Given the description of an element on the screen output the (x, y) to click on. 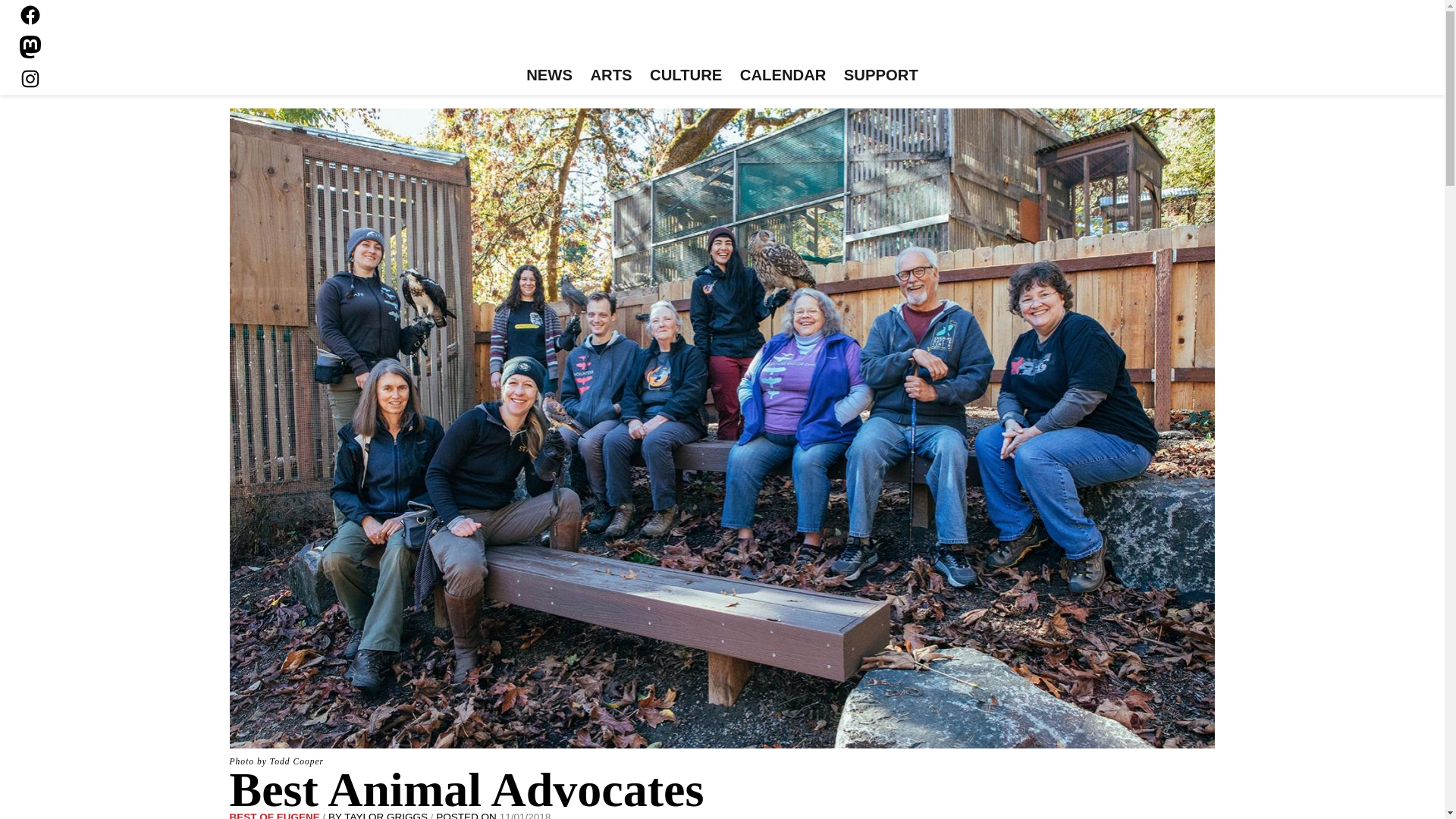
NEWS (548, 75)
Mastodon (30, 47)
ARTS (611, 75)
CULTURE (685, 75)
Instagram (30, 78)
SUPPORT (880, 75)
Facebook (30, 15)
CALENDAR (782, 75)
Eugene Weekly (721, 37)
